Given the description of an element on the screen output the (x, y) to click on. 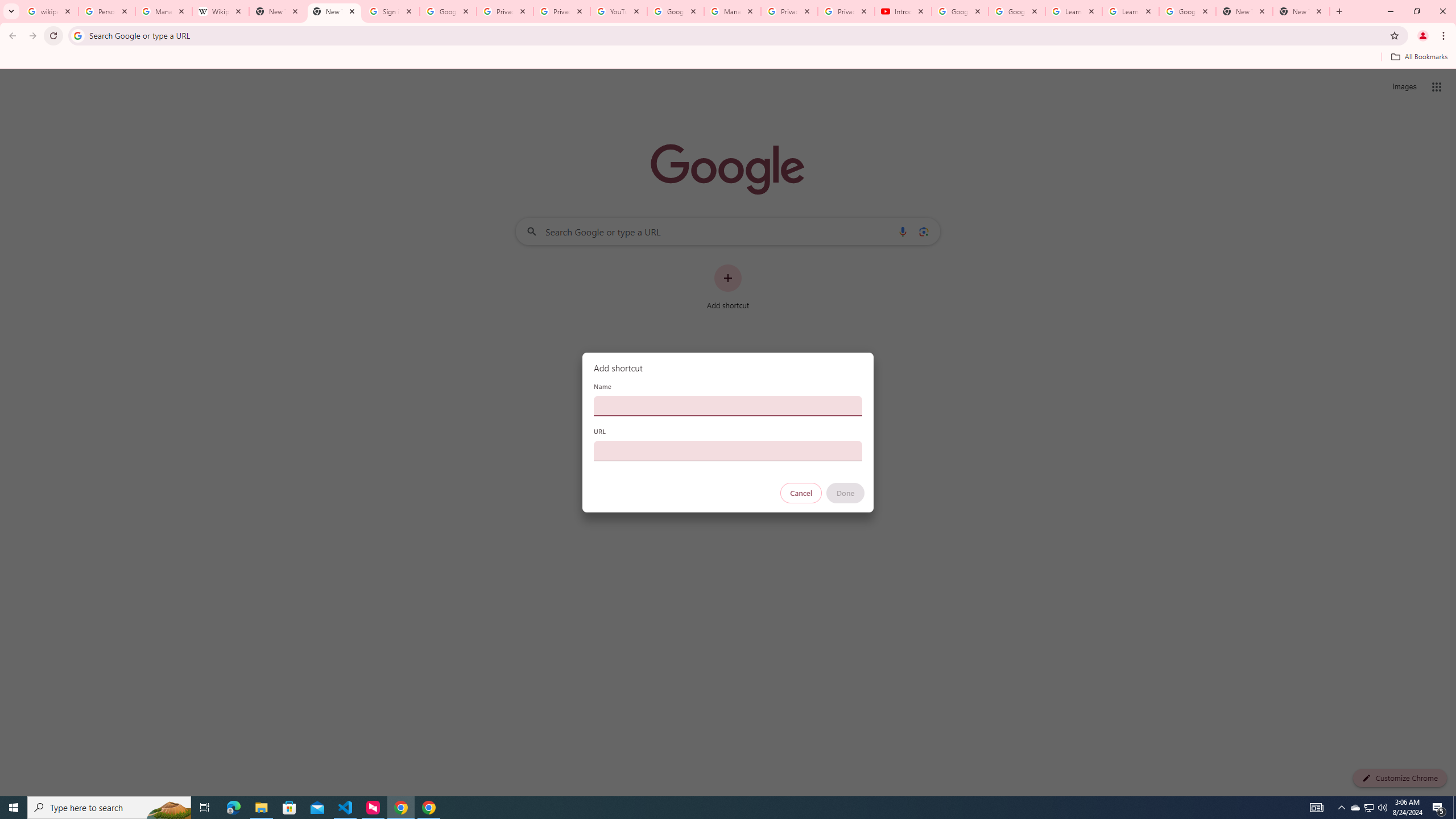
Google Account Help (1015, 11)
URL (727, 450)
Wikipedia:Edit requests - Wikipedia (220, 11)
Google Account Help (675, 11)
All Bookmarks (1418, 56)
New Tab (1301, 11)
Cancel (801, 493)
